Given the description of an element on the screen output the (x, y) to click on. 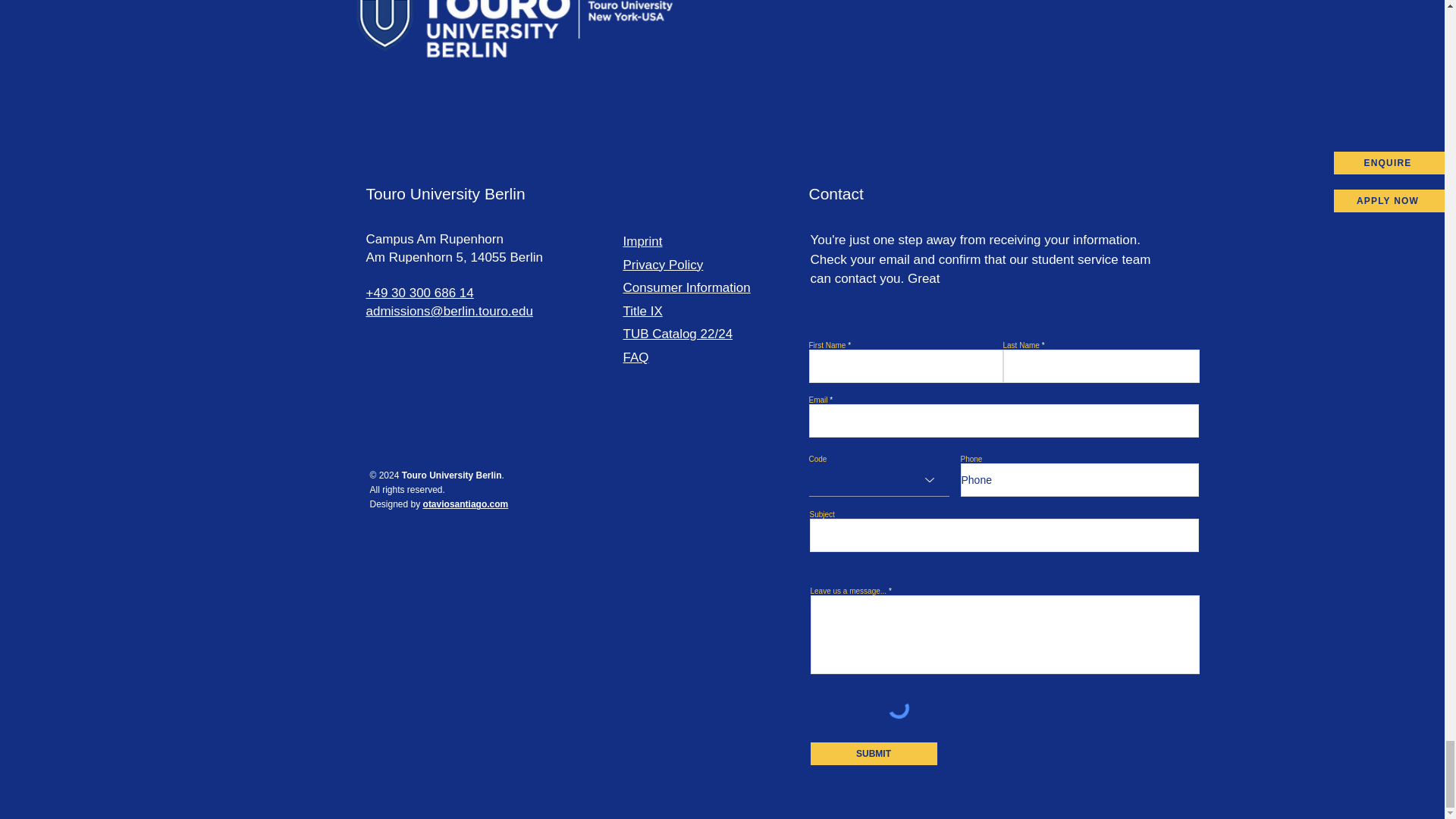
FAQ (636, 357)
Imprint (642, 241)
Privacy Policy (663, 264)
Consumer Information (687, 287)
Title IX (642, 310)
otaviosantiago.com (465, 503)
Touro University Berlin (444, 193)
SUBMIT (872, 753)
